Given the description of an element on the screen output the (x, y) to click on. 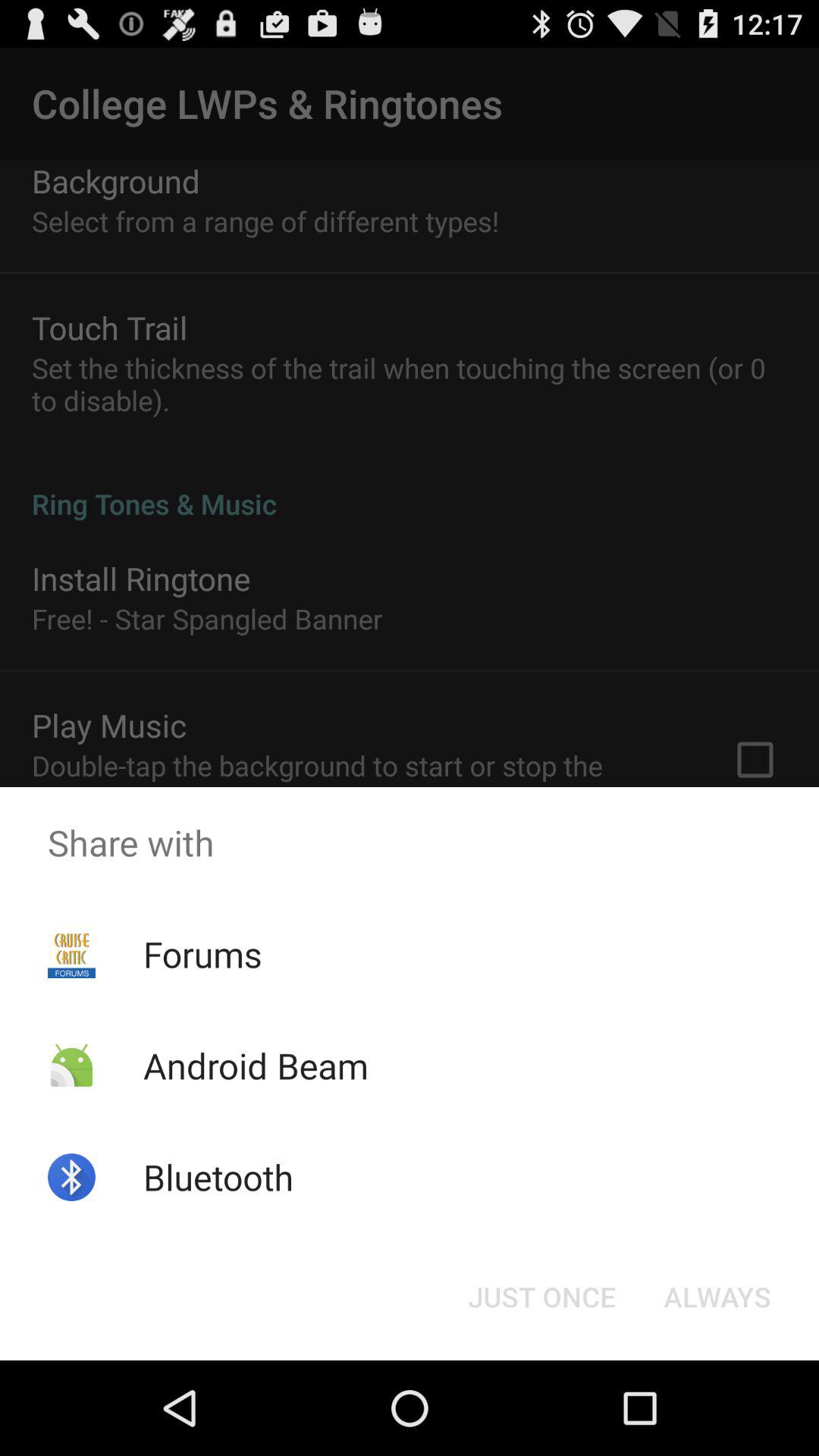
choose the icon below the share with item (202, 953)
